Given the description of an element on the screen output the (x, y) to click on. 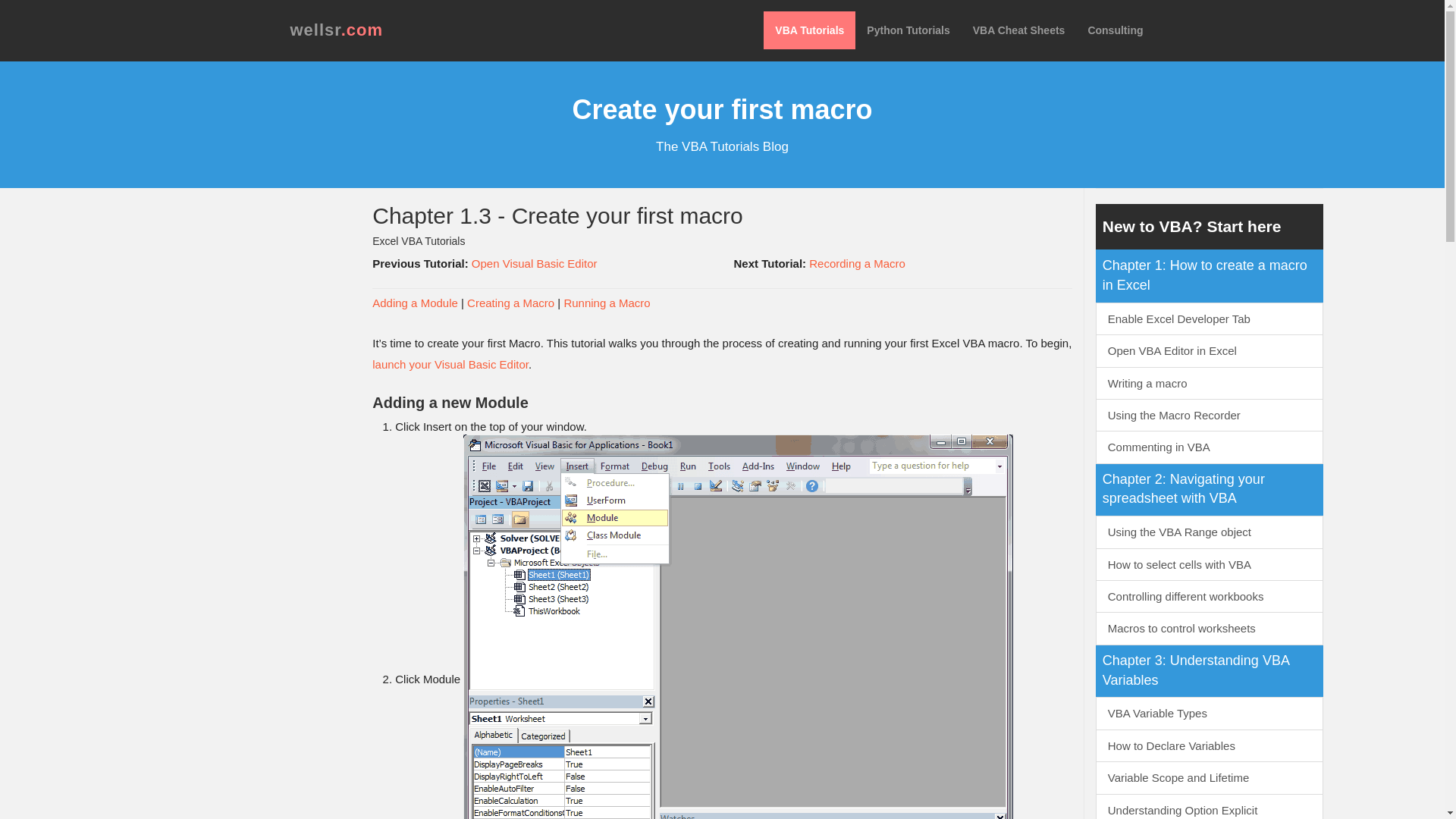
Open Visual Basic Editor (533, 263)
wellsr.com (336, 30)
Recording a Macro (857, 263)
Understanding Option Explicit (1209, 806)
Creating a Macro (510, 302)
Controlling different workbooks (1209, 595)
launch your Visual Basic Editor (450, 364)
Using the VBA Range object (1209, 531)
Open VBA Editor in Excel (1209, 350)
Enable Excel Developer Tab (1209, 318)
Macros to control worksheets (1209, 627)
Variable Scope and Lifetime (1209, 777)
How to Declare Variables (1209, 745)
Writing a macro (1209, 382)
How to select cells with VBA (1209, 563)
